Given the description of an element on the screen output the (x, y) to click on. 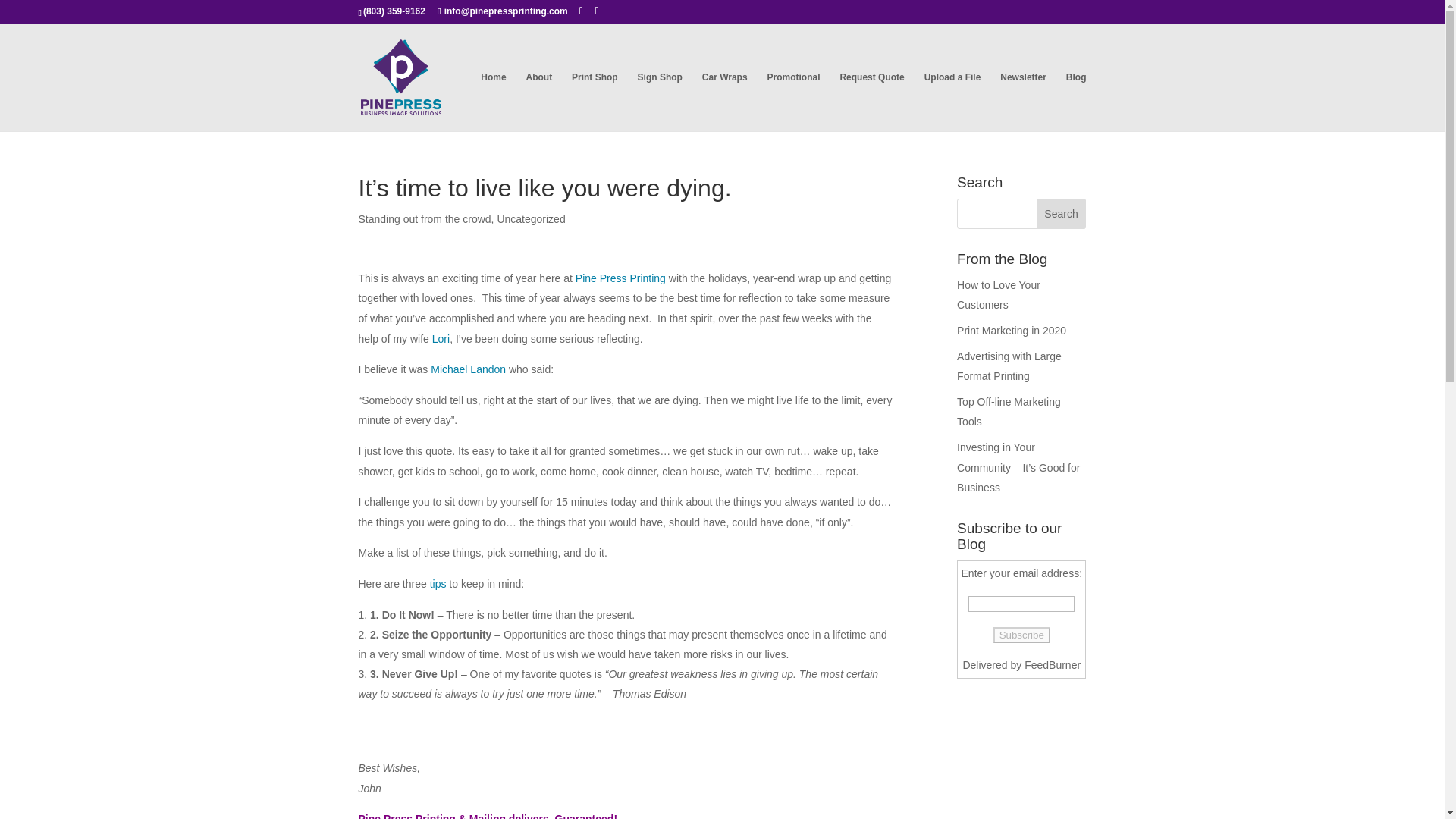
Standing out from the crowd (424, 218)
Advertising with Large Format Printing (1008, 366)
How to Love Your Customers (998, 295)
Search (1061, 214)
Search (1061, 214)
Promotional (794, 101)
Subscribe (1020, 634)
tips (437, 583)
Uncategorized (530, 218)
Print Marketing in 2020 (1010, 330)
Michael Landon (467, 369)
Request Quote (872, 101)
Pine Press Printing (620, 277)
Lori (440, 338)
Upload a File (952, 101)
